Given the description of an element on the screen output the (x, y) to click on. 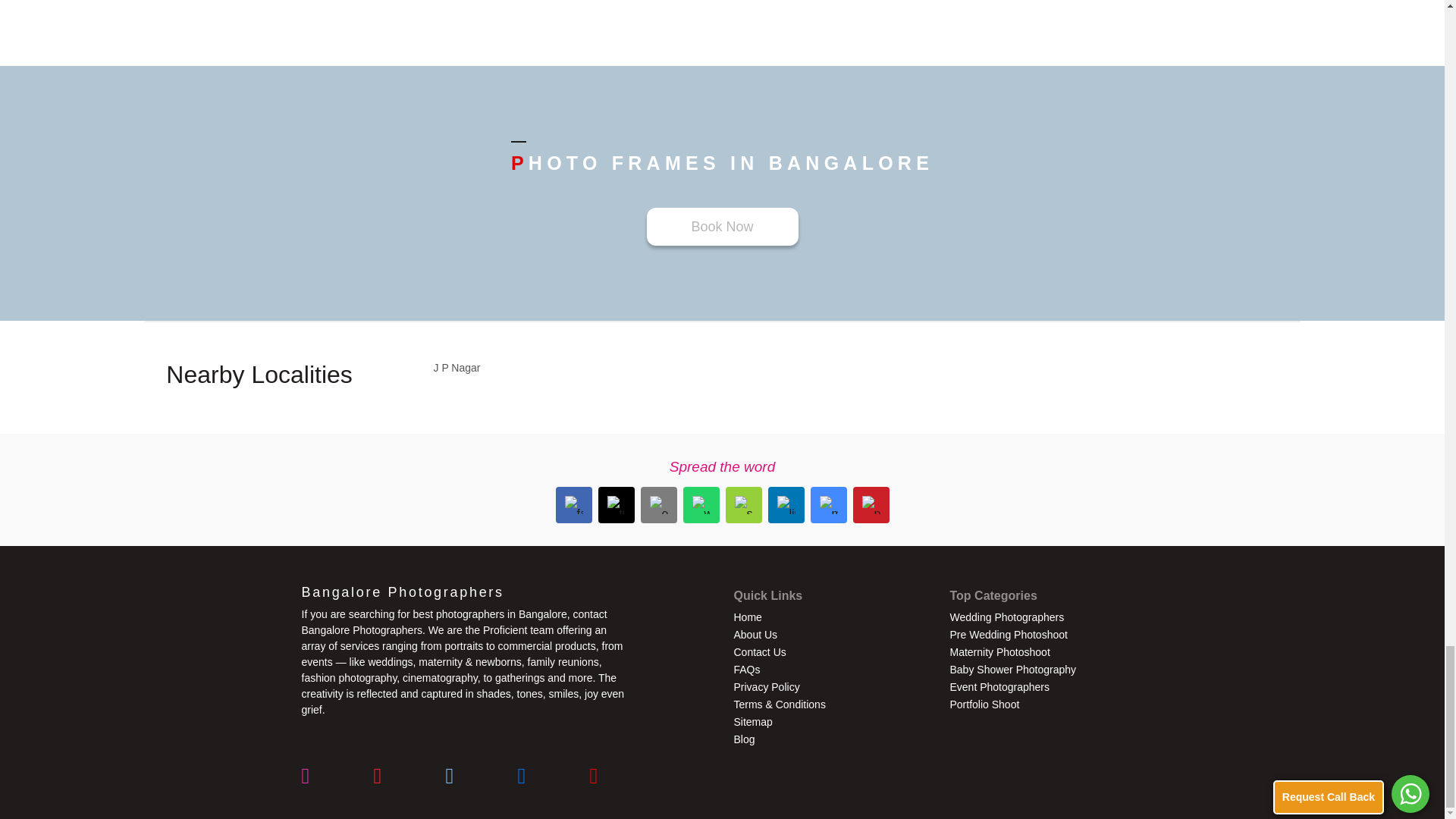
Book Now (721, 226)
Book Now (721, 227)
